Given the description of an element on the screen output the (x, y) to click on. 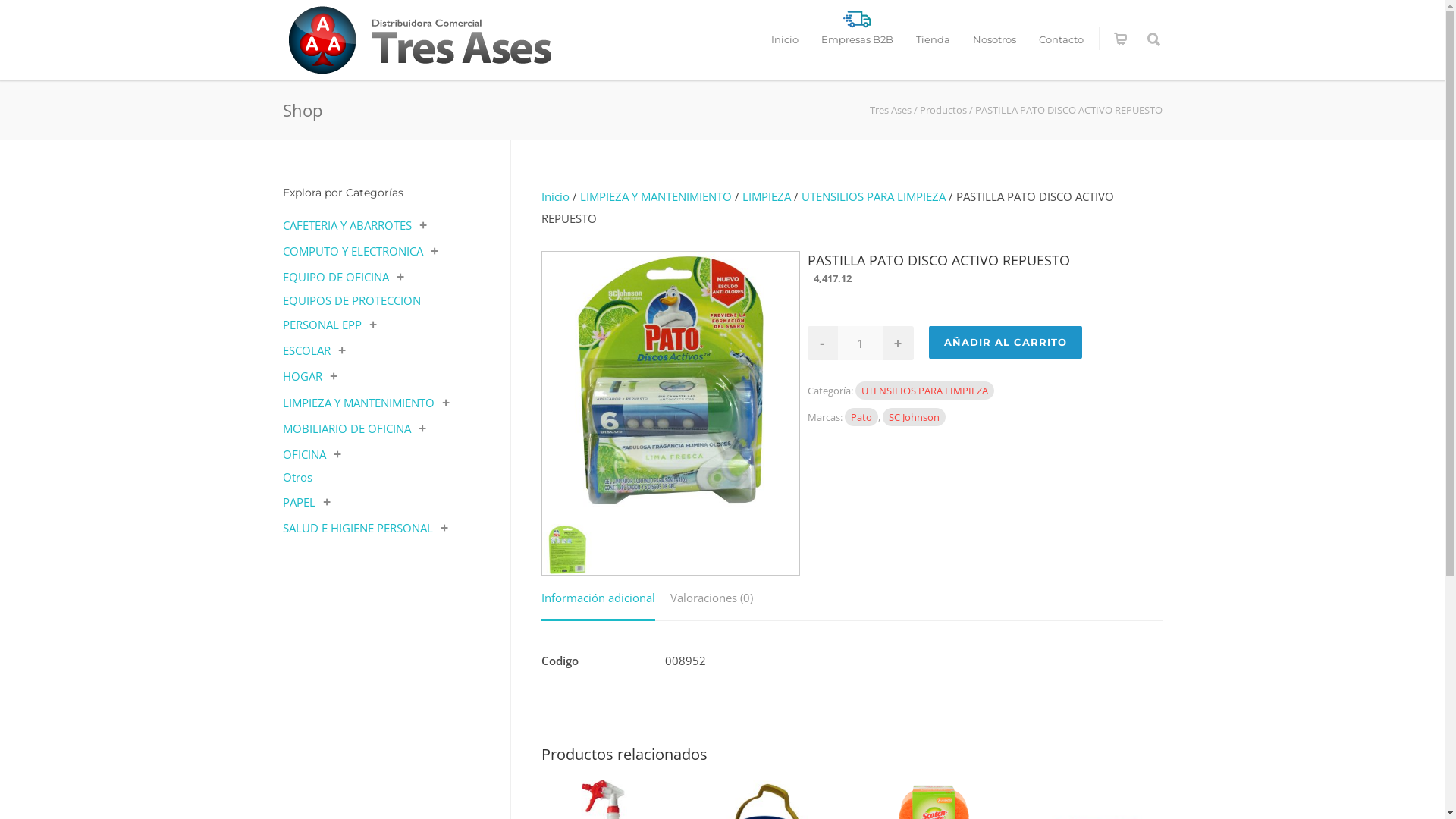
PAPEL Element type: text (298, 501)
Pato Element type: text (861, 416)
Tienda Element type: text (931, 40)
EQUIPO DE OFICINA Element type: text (335, 276)
LIMPIEZA Y MANTENIMIENTO Element type: text (357, 402)
HOGAR Element type: text (301, 375)
008952 PASTILLA PATO DISCO ACTIVO REPUESTO 2 Element type: hover (567, 548)
008952 PASTILLA PATO DISCO ACTIVO REPUESTO Element type: hover (669, 379)
MOBILIARIO DE OFICINA Element type: text (346, 428)
Tres Ases Element type: text (889, 109)
Otros Element type: text (296, 476)
CAFETERIA Y ABARROTES Element type: text (346, 224)
EQUIPOS DE PROTECCION PERSONAL EPP Element type: text (351, 312)
LIMPIEZA Y MANTENIMIENTO Element type: text (655, 195)
Empresas B2B Element type: text (856, 40)
Inicio Element type: text (784, 40)
SC Johnson Element type: text (913, 416)
Productos Element type: text (942, 109)
LIMPIEZA Element type: text (765, 195)
- Element type: text (821, 343)
+ Element type: text (897, 343)
UTENSILIOS PARA LIMPIEZA Element type: text (872, 195)
ESCOLAR Element type: text (305, 349)
Valoraciones (0) Element type: text (711, 598)
UTENSILIOS PARA LIMPIEZA Element type: text (924, 390)
OFICINA Element type: text (303, 453)
SALUD E HIGIENE PERSONAL Element type: text (357, 527)
Nosotros Element type: text (994, 40)
COMPUTO Y ELECTRONICA Element type: text (352, 250)
Inicio Element type: text (555, 195)
Contacto Element type: text (1060, 40)
